Given the description of an element on the screen output the (x, y) to click on. 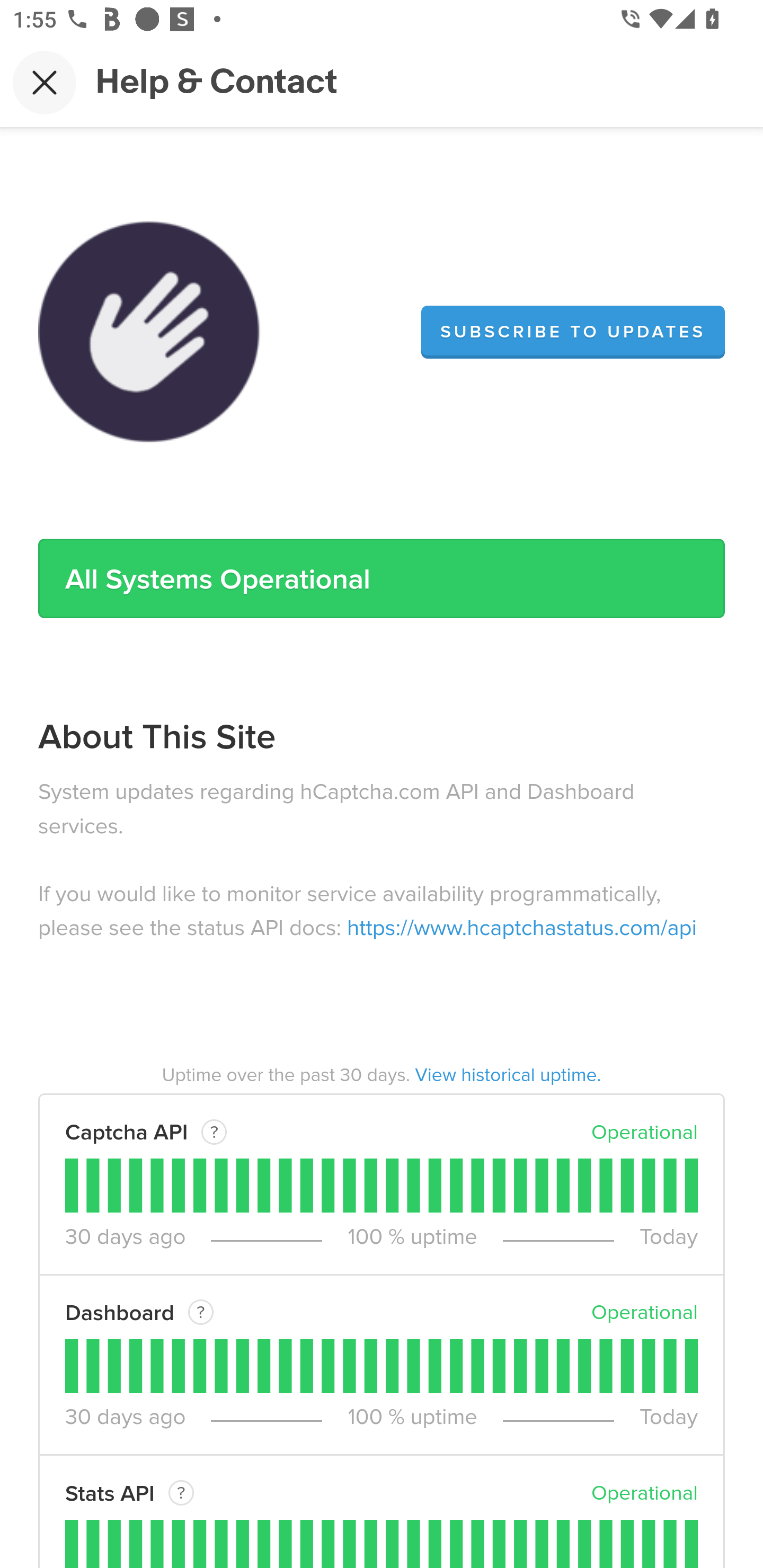
Close (44, 82)
Page logo (149, 332)
Subscribe to updates (572, 332)
About This Site (157, 737)
https://www.hcaptchastatus.com/api (522, 928)
View historical uptime. (508, 1076)
